Given the description of an element on the screen output the (x, y) to click on. 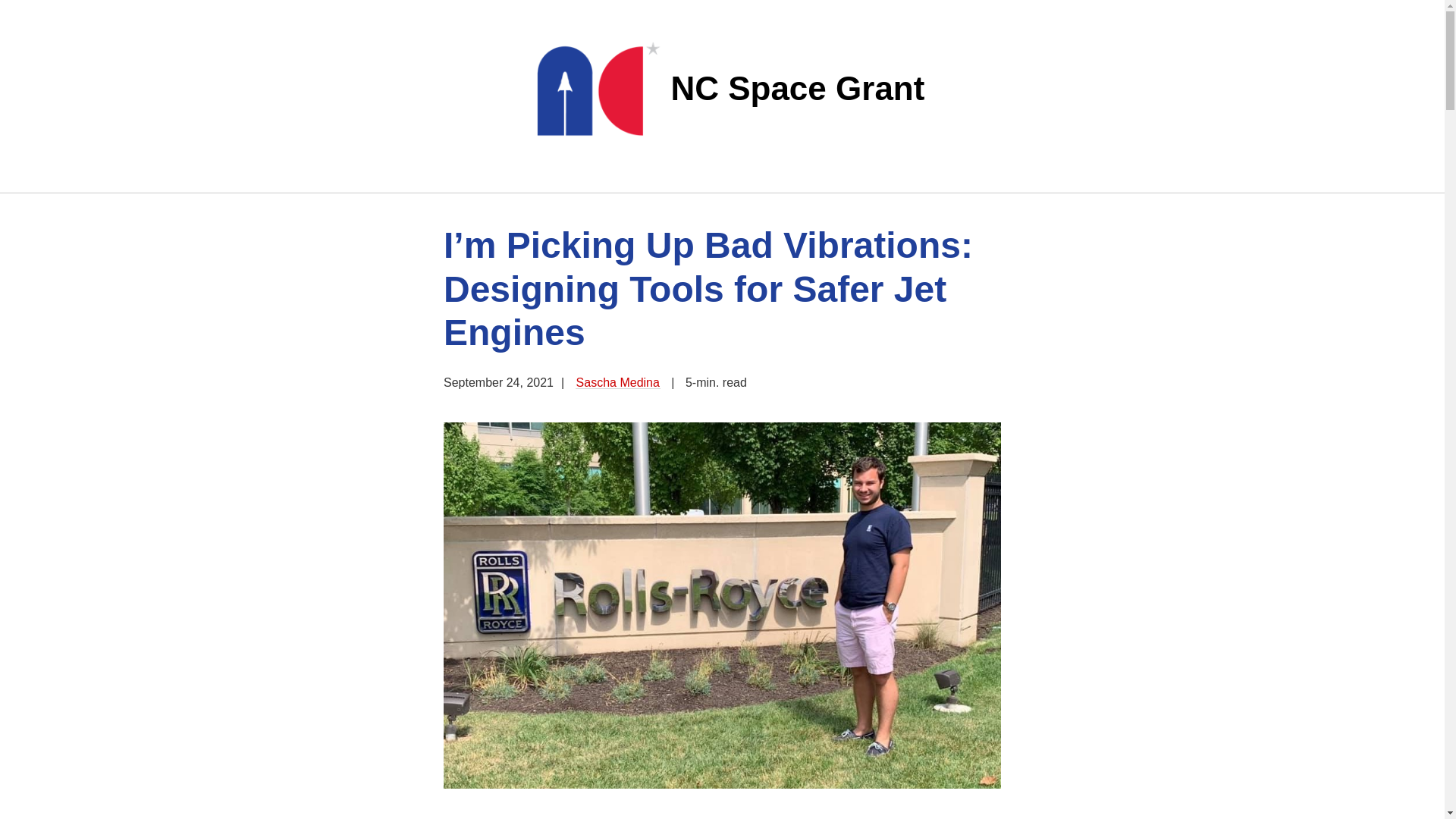
NC Space Grant (722, 88)
Posts by Sascha Medina (618, 382)
